Given the description of an element on the screen output the (x, y) to click on. 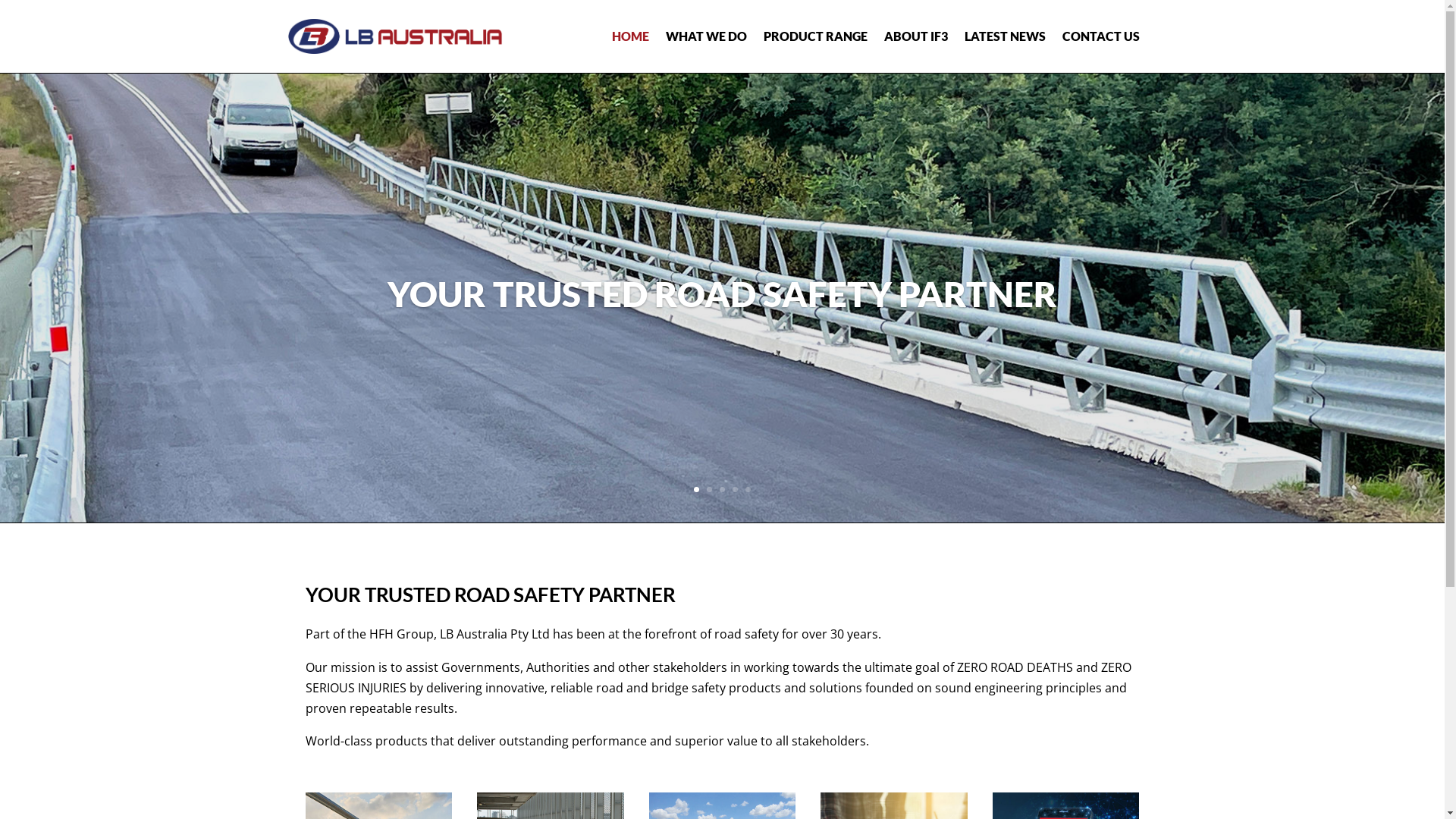
ABOUT IF3 Element type: text (915, 36)
WHAT WE DO Element type: text (705, 36)
1 Element type: text (696, 489)
4 Element type: text (734, 489)
CONTACT US Element type: text (1100, 36)
5 Element type: text (747, 489)
LATEST NEWS Element type: text (1004, 36)
2 Element type: text (709, 489)
PRODUCT RANGE Element type: text (814, 36)
HOME Element type: text (629, 36)
3 Element type: text (721, 489)
